Given the description of an element on the screen output the (x, y) to click on. 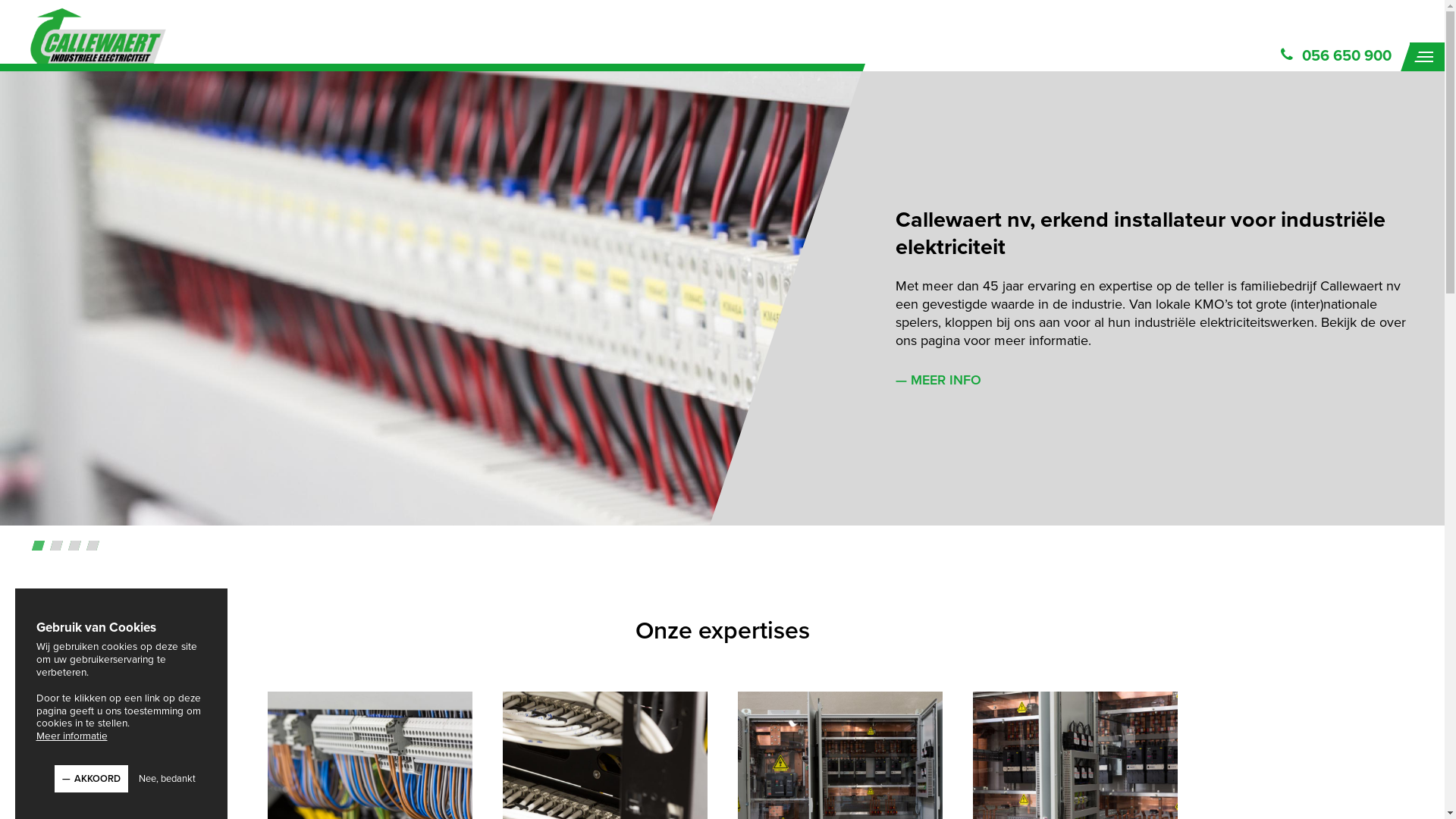
1 Element type: text (39, 547)
2 Element type: text (57, 547)
AKKOORD Element type: text (91, 778)
Nee, bedankt Element type: text (166, 778)
4 Element type: text (93, 547)
Toggle navigation Element type: text (1426, 56)
Meer informatie Element type: text (71, 736)
3 Element type: text (75, 547)
MEER INFO Element type: text (945, 379)
056 650 900 Element type: text (1335, 55)
Overslaan en naar de inhoud gaan Element type: text (0, 70)
